Given the description of an element on the screen output the (x, y) to click on. 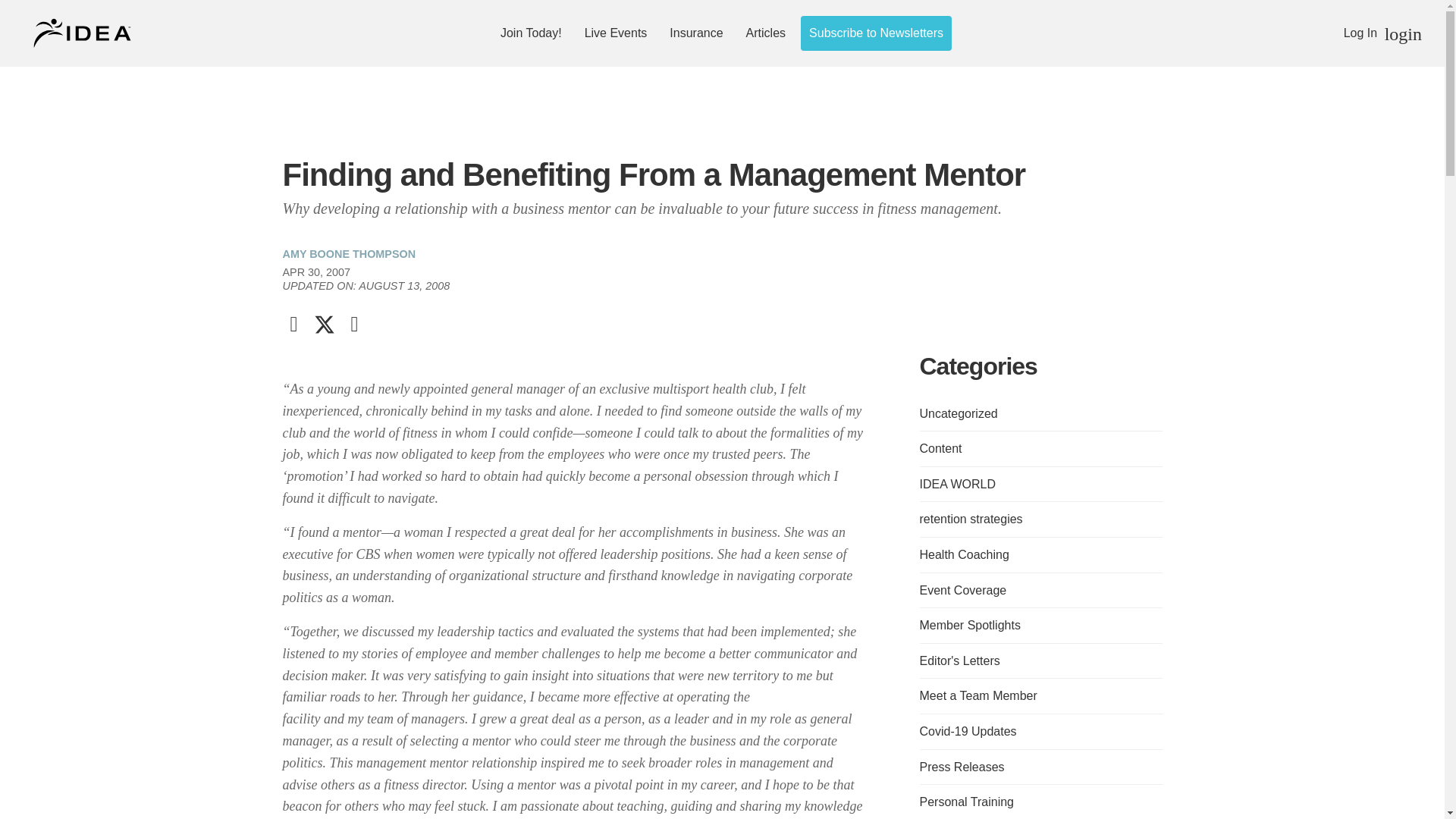
Facebook (293, 323)
Articles (765, 32)
Join Today! (531, 32)
Log In login (1382, 32)
Pinterest (353, 323)
Insurance (696, 32)
idea-logo (83, 33)
Subscribe to Newsletters (876, 32)
Live Events (615, 32)
Posts by Amy Boone Thompson (348, 254)
